Given the description of an element on the screen output the (x, y) to click on. 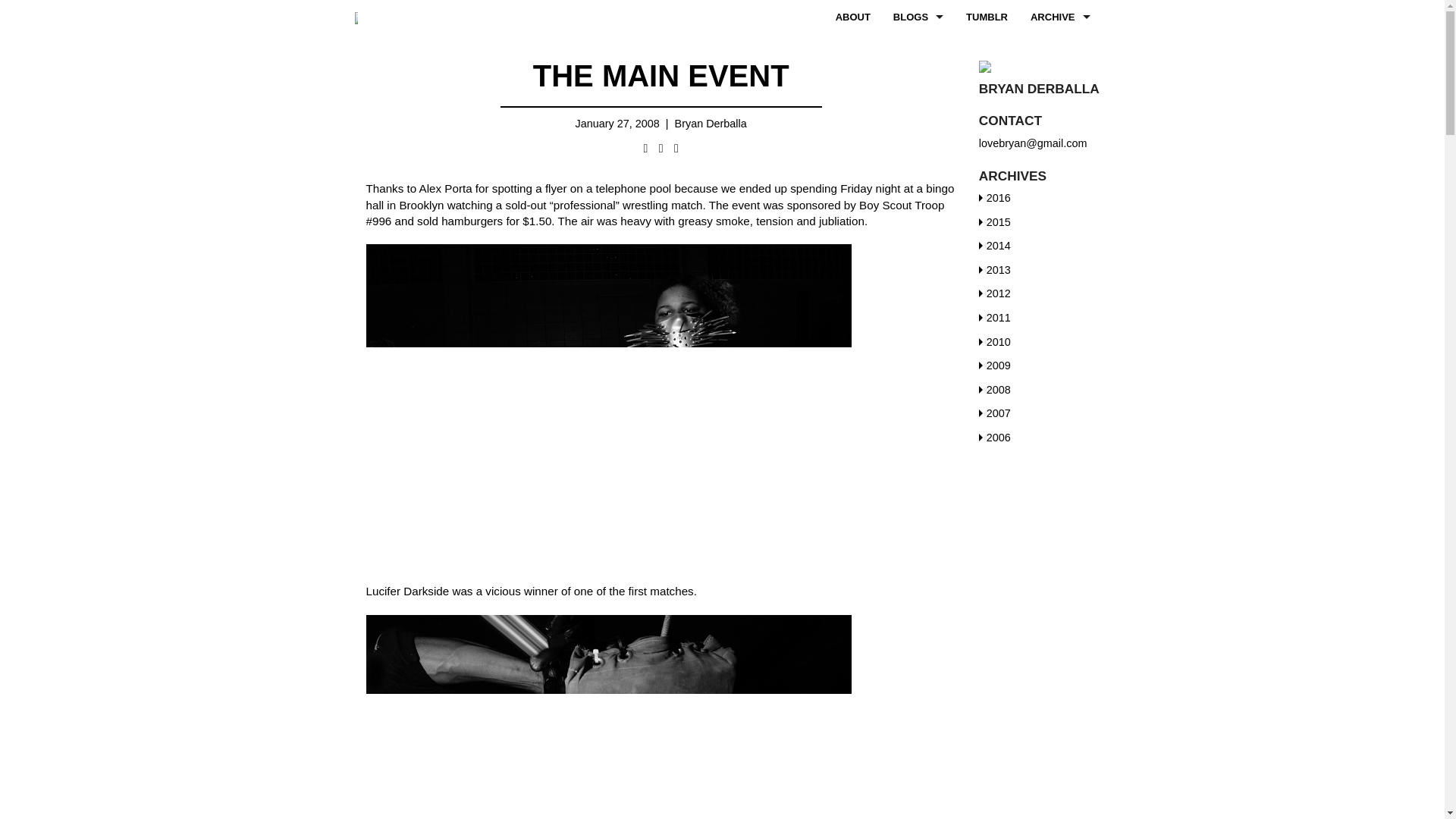
BLOGS (918, 17)
ARCHIVE (1060, 17)
BRYAN DERBALLA (918, 50)
Pat Parra (901, 119)
ANYA KAMENSKAYA (901, 187)
BRETT NELSON (901, 50)
SUZETTE LEE (1035, 187)
TY RHODE (1035, 221)
Bryan Derballa (710, 123)
SWING SHIFT (918, 255)
